Given the description of an element on the screen output the (x, y) to click on. 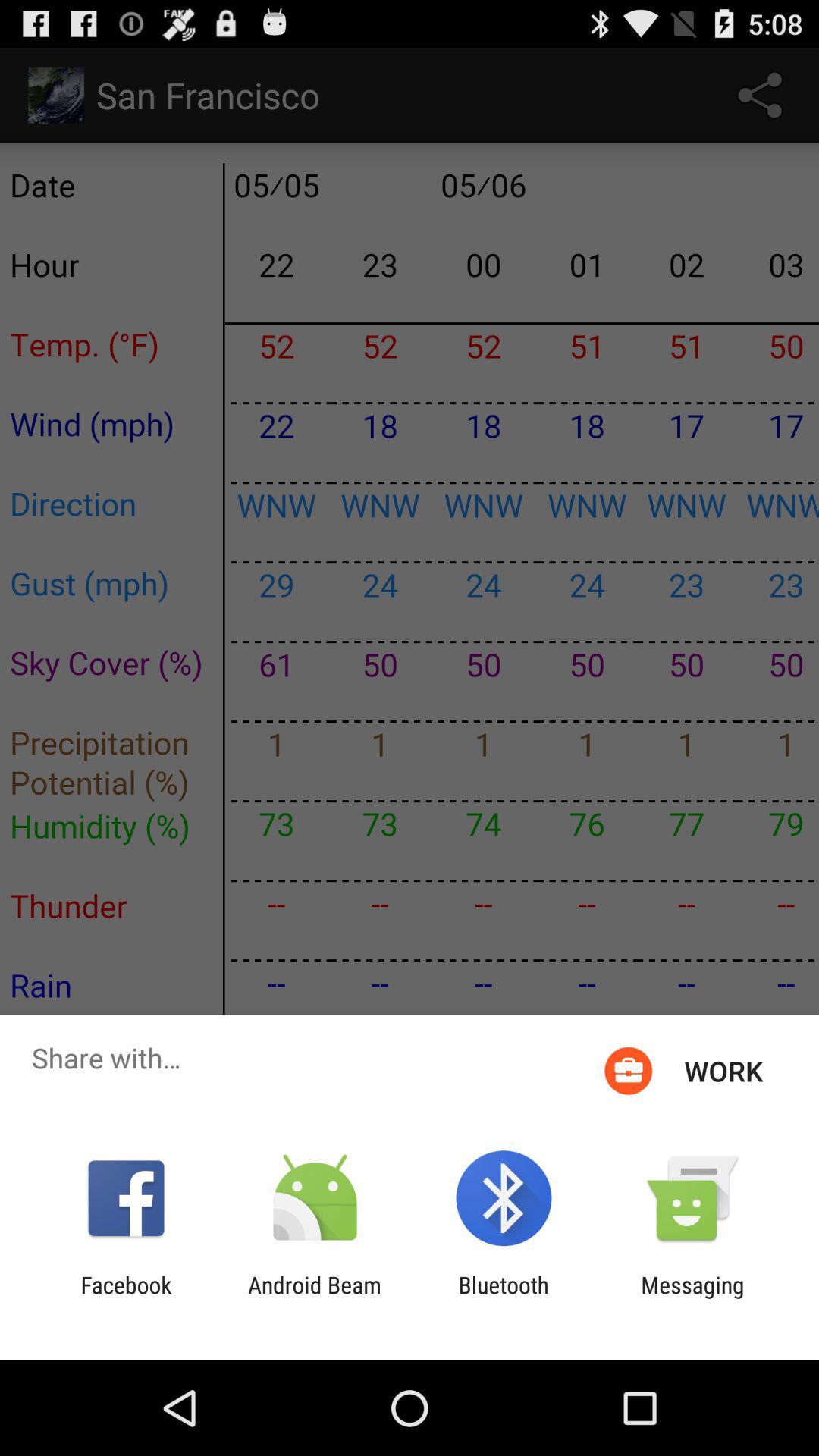
click the item next to facebook item (314, 1298)
